Given the description of an element on the screen output the (x, y) to click on. 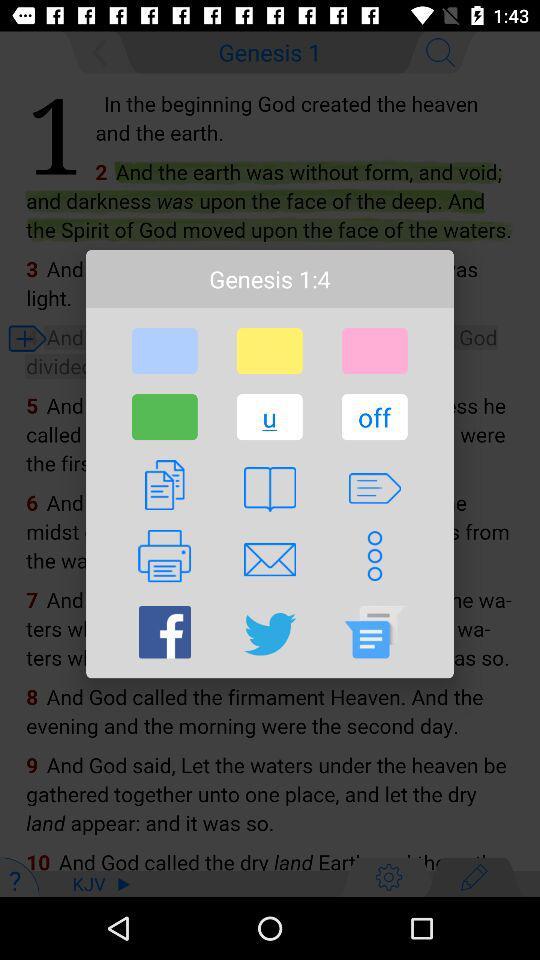
open item below genesis 1:4 item (269, 351)
